Given the description of an element on the screen output the (x, y) to click on. 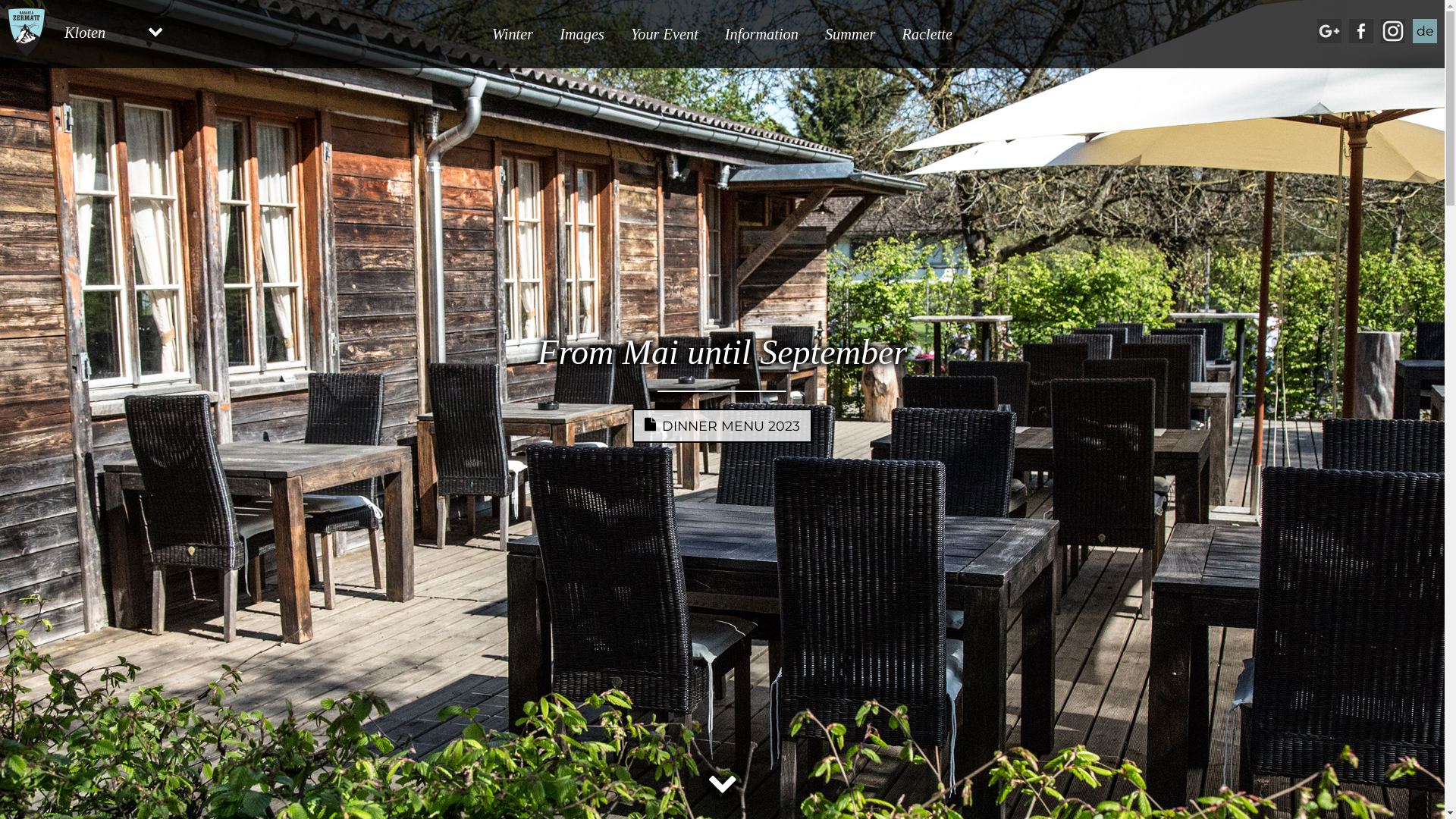
Your Event Element type: text (664, 33)
Information Element type: text (761, 33)
Raclette Element type: text (927, 33)
Images Element type: text (581, 33)
DINNER MENU 2023 Element type: text (721, 425)
de Element type: text (1424, 30)
Winter Element type: text (512, 33)
Summer Element type: text (850, 33)
